Given the description of an element on the screen output the (x, y) to click on. 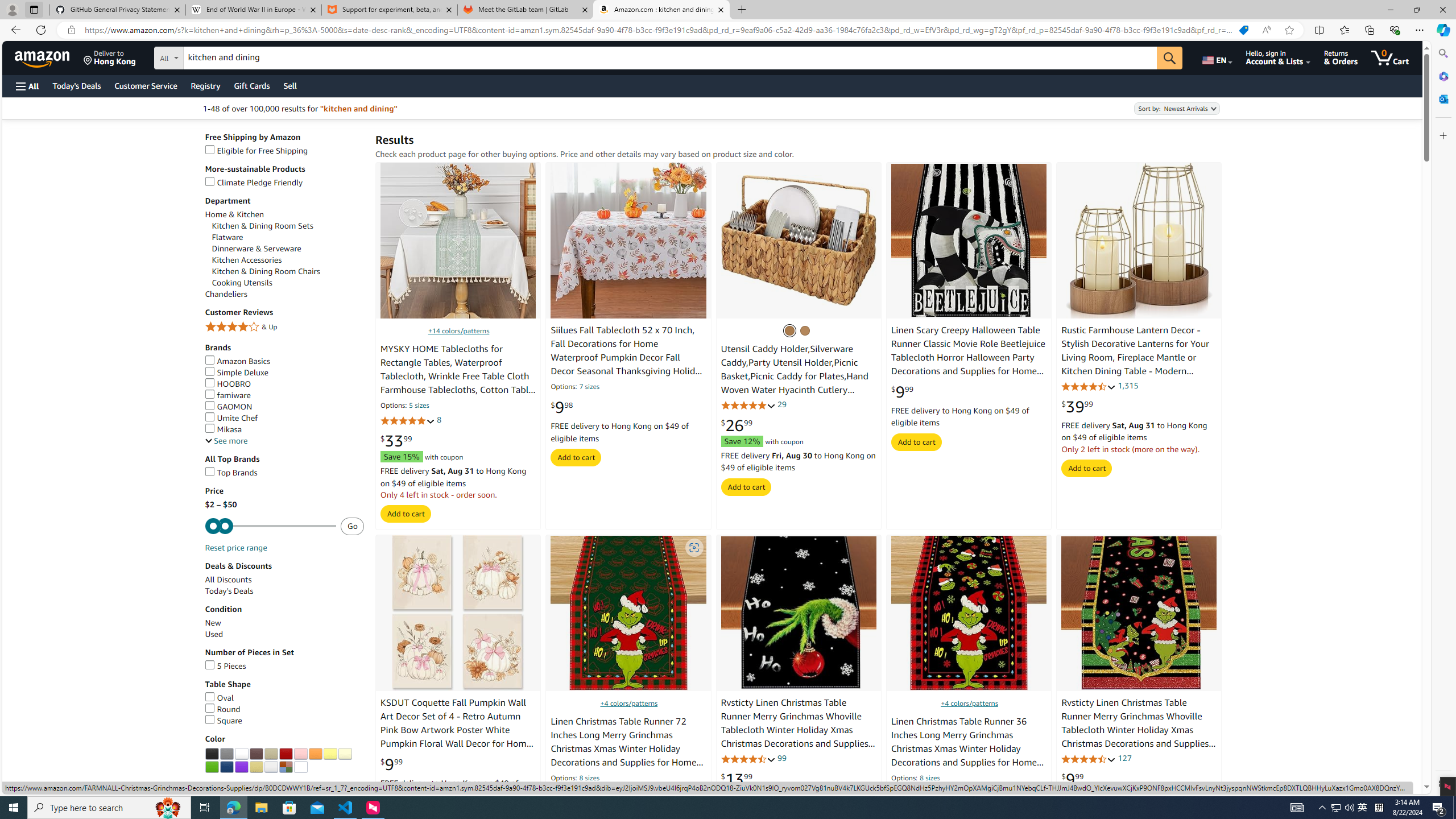
Yellow (330, 753)
$9.99 (1072, 779)
AutomationID: p_n_feature_twenty_browse-bin/3254109011 (226, 766)
AutomationID: p_n_feature_twenty_browse-bin/3254101011 (255, 753)
AutomationID: p_n_feature_twenty_browse-bin/3254112011 (270, 766)
GAOMON (284, 406)
Umite Chef (284, 418)
AutomationID: p_n_feature_twenty_browse-bin/3254111011 (255, 766)
Mikasa (284, 429)
AutomationID: p_n_feature_twenty_browse-bin/3254102011 (270, 753)
